Given the description of an element on the screen output the (x, y) to click on. 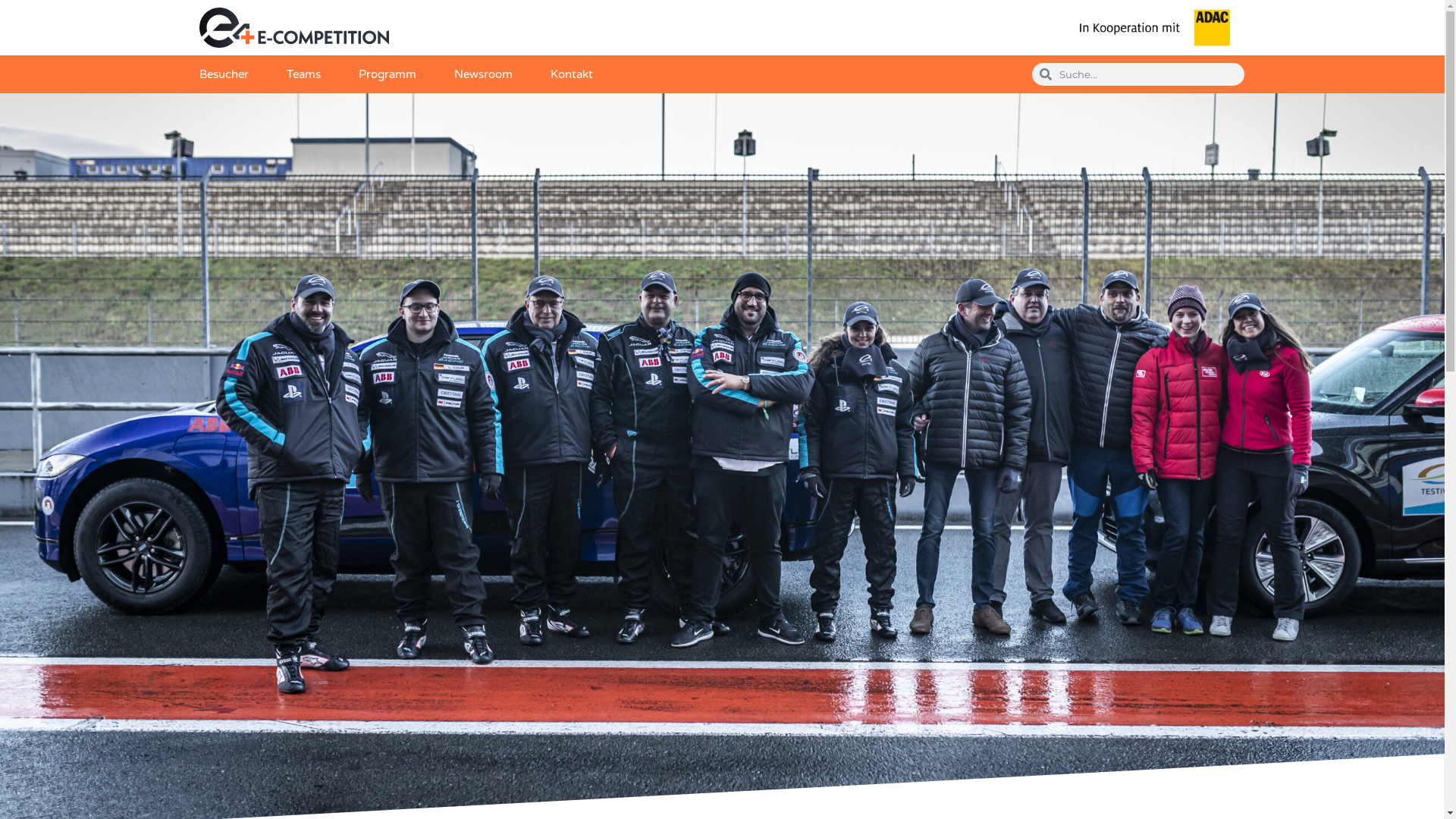
Kontakt Element type: text (571, 73)
Besucher Element type: text (222, 73)
Programm Element type: text (386, 73)
Newsroom Element type: text (482, 73)
Teams Element type: text (303, 73)
